Given the description of an element on the screen output the (x, y) to click on. 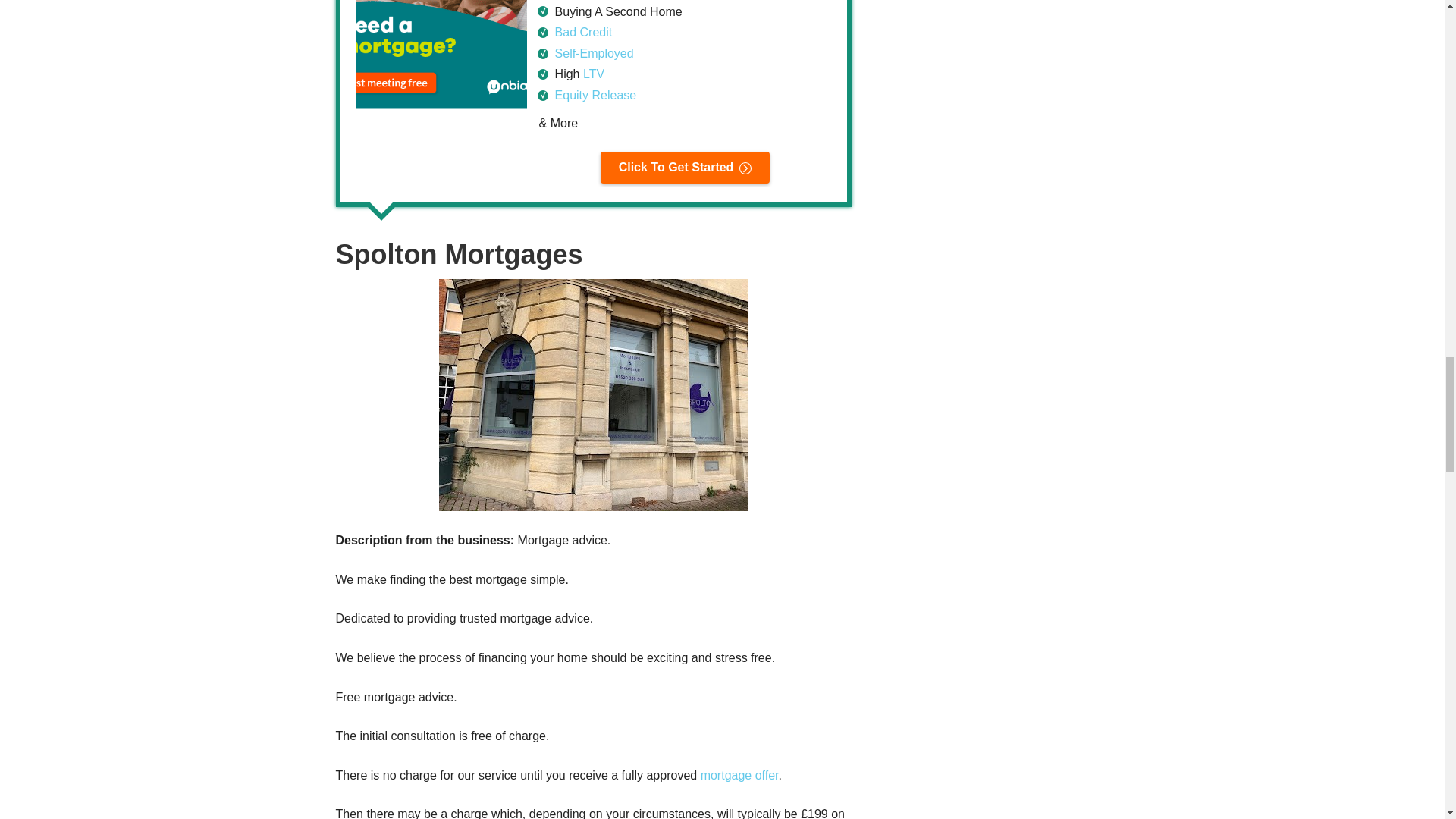
Equity Release (595, 94)
Click To Get Started (684, 167)
Bad Credit (583, 31)
Self-Employed (593, 52)
mortgage offer (739, 775)
How To Get A Mortgage With Bad Credit (583, 31)
LTV (593, 73)
